Given the description of an element on the screen output the (x, y) to click on. 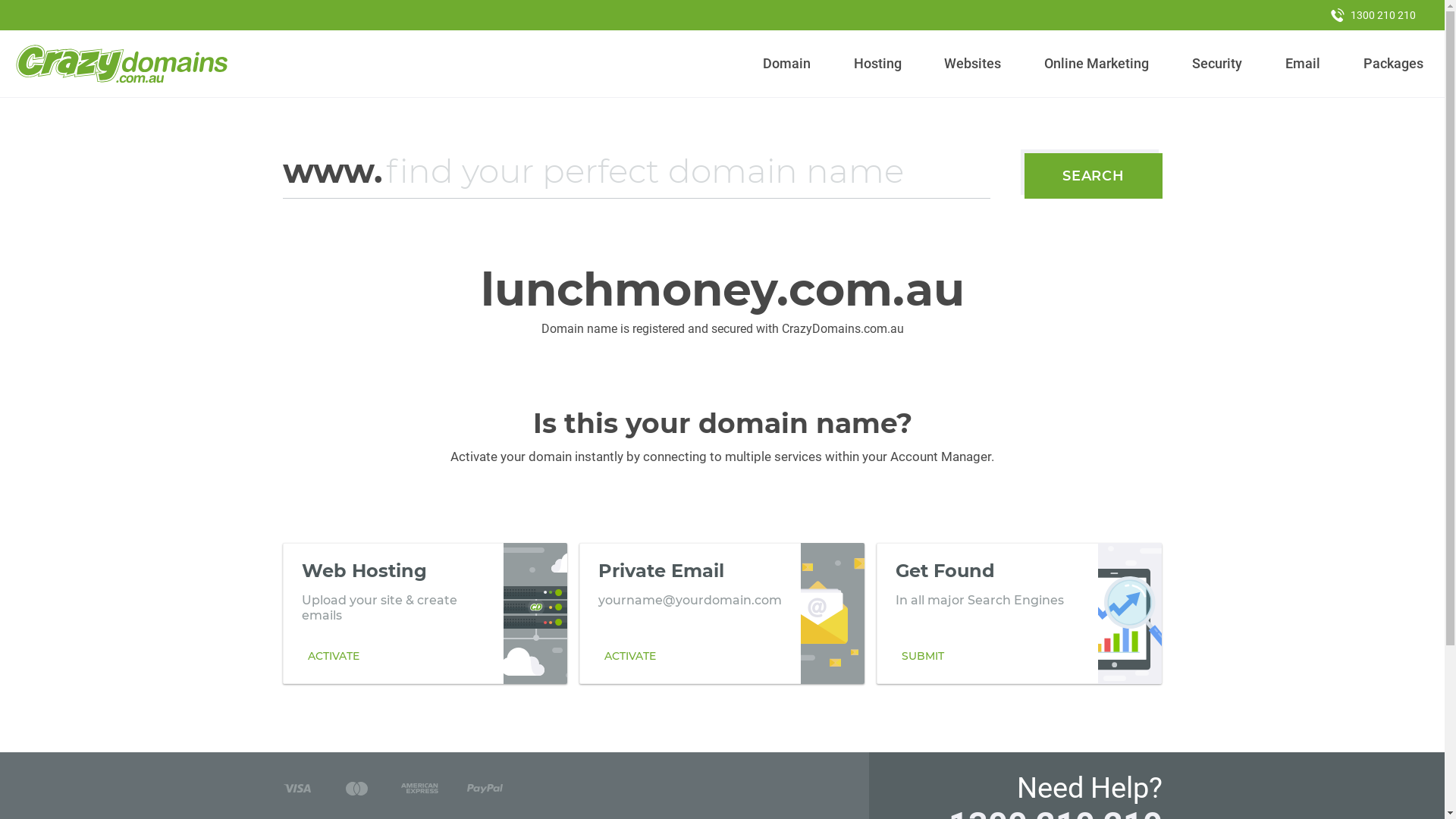
Email Element type: text (1302, 63)
Domain Element type: text (786, 63)
1300 210 210 Element type: text (1373, 15)
Websites Element type: text (972, 63)
Web Hosting
Upload your site & create emails
ACTIVATE Element type: text (424, 613)
Hosting Element type: text (877, 63)
Packages Element type: text (1392, 63)
Online Marketing Element type: text (1096, 63)
Security Element type: text (1217, 63)
SEARCH Element type: text (1092, 175)
Get Found
In all major Search Engines
SUBMIT Element type: text (1018, 613)
Private Email
yourname@yourdomain.com
ACTIVATE Element type: text (721, 613)
